Given the description of an element on the screen output the (x, y) to click on. 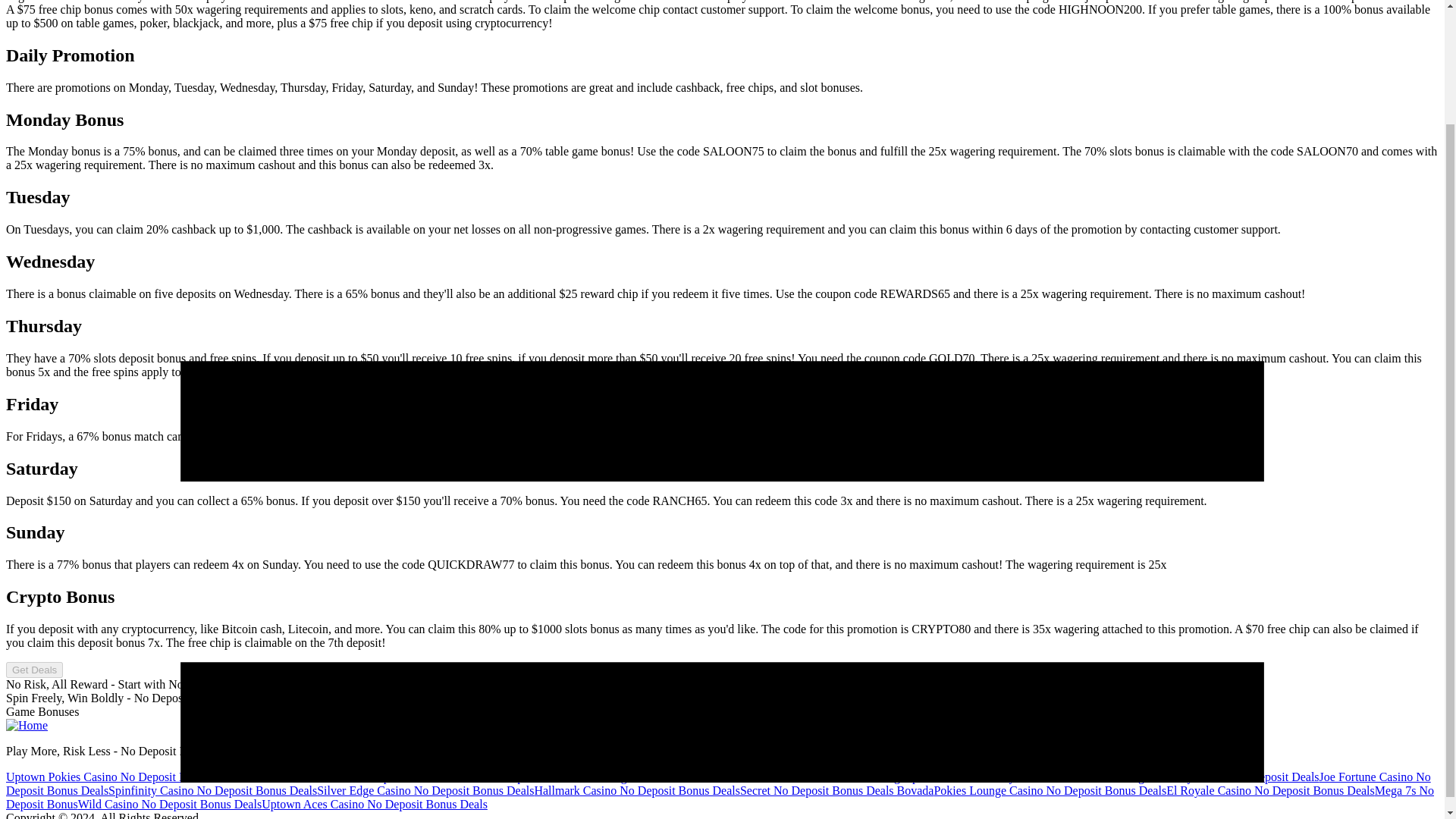
Silver Edge Casino No Deposit Bonus Deals (425, 789)
Uptown Pokies Casino No Deposit Bonus Deals (122, 776)
Our Complete Guide to Finding the Best Online Slots USA (615, 776)
Secret No Deposit Bonus Deals Bovada (836, 789)
Uptown Aces Casino No Deposit Bonus Deals (374, 803)
Wild Casino No Deposit Bonus Deals (170, 803)
Pokies Lounge Casino No Deposit Bonus Deals (1049, 789)
El Royale Casino No Deposit Bonus Deals (1270, 789)
High Country Casino No Deposit Deals (1222, 776)
Get Deals (33, 669)
